Given the description of an element on the screen output the (x, y) to click on. 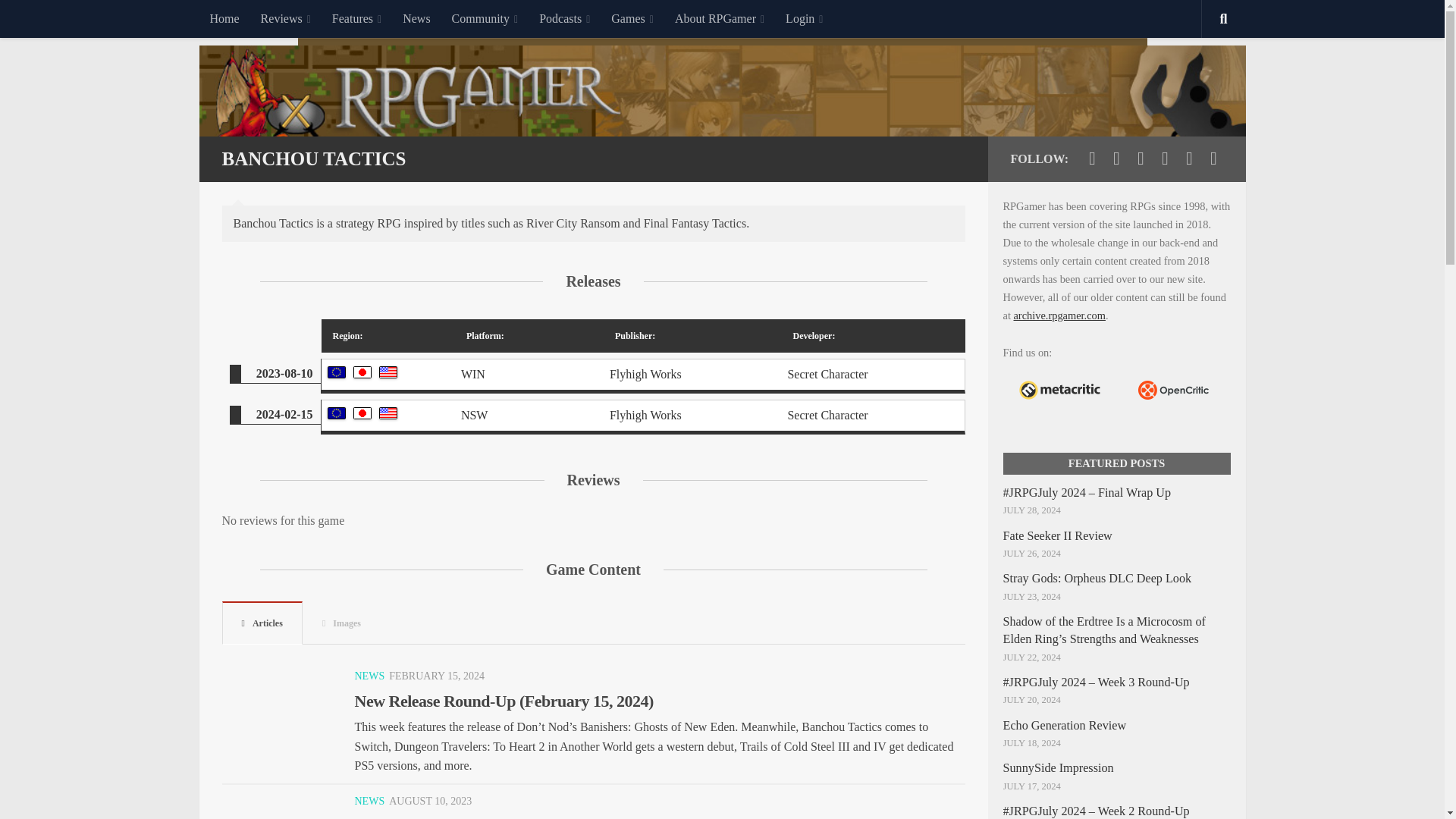
Skip to content (59, 20)
Follow us on Rss (1213, 158)
Follow us on Discord (1188, 158)
Follow us on Twitter (1091, 158)
Follow us on Facebook (1115, 158)
Follow us on Youtube (1140, 158)
Follow us on Twitch (1164, 158)
